Given the description of an element on the screen output the (x, y) to click on. 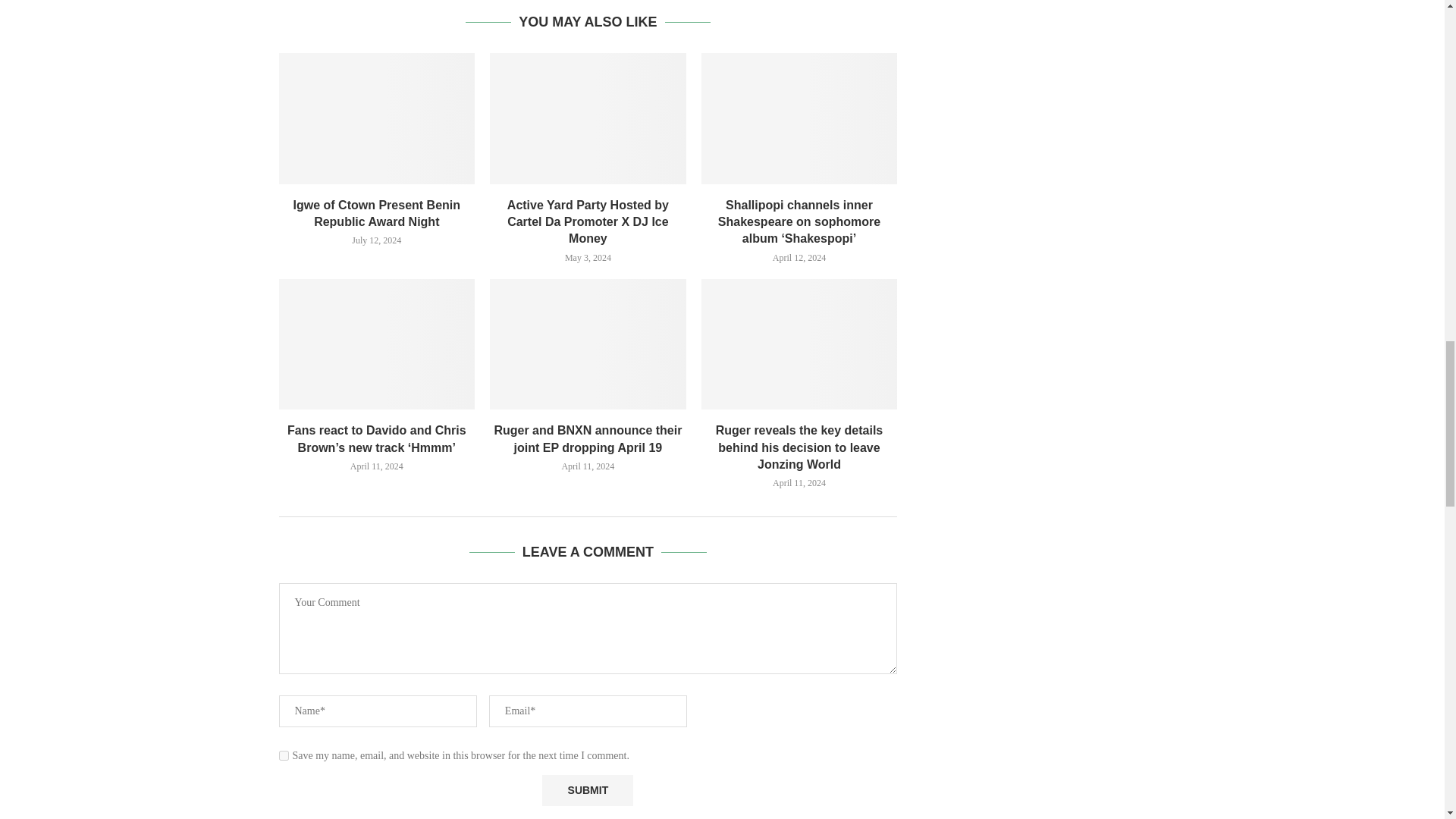
Igwe of Ctown Present Benin Republic Award Night (377, 118)
yes (283, 755)
Submit (587, 789)
Ruger and BNXN announce their joint EP dropping April 19 (587, 344)
